Given the description of an element on the screen output the (x, y) to click on. 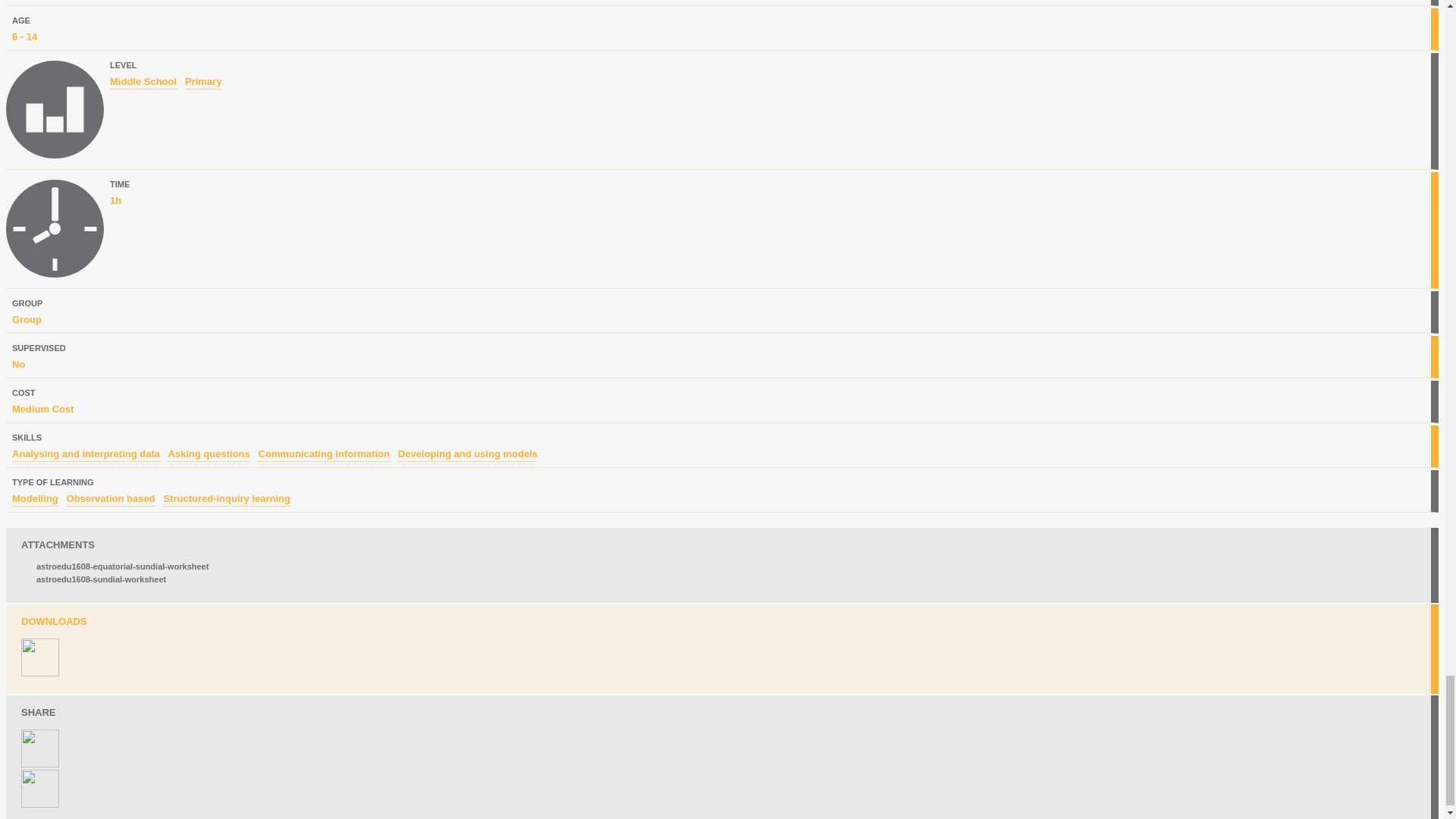
PDF (40, 657)
Share on Twitter (43, 804)
Modelling (34, 499)
Primary (202, 82)
Structured-inquiry learning (226, 499)
Communicating information (324, 454)
Observation based (110, 499)
Asking questions (207, 454)
astroedu1608-sundial-worksheet (100, 578)
Analysing and interpreting data (85, 454)
